Given the description of an element on the screen output the (x, y) to click on. 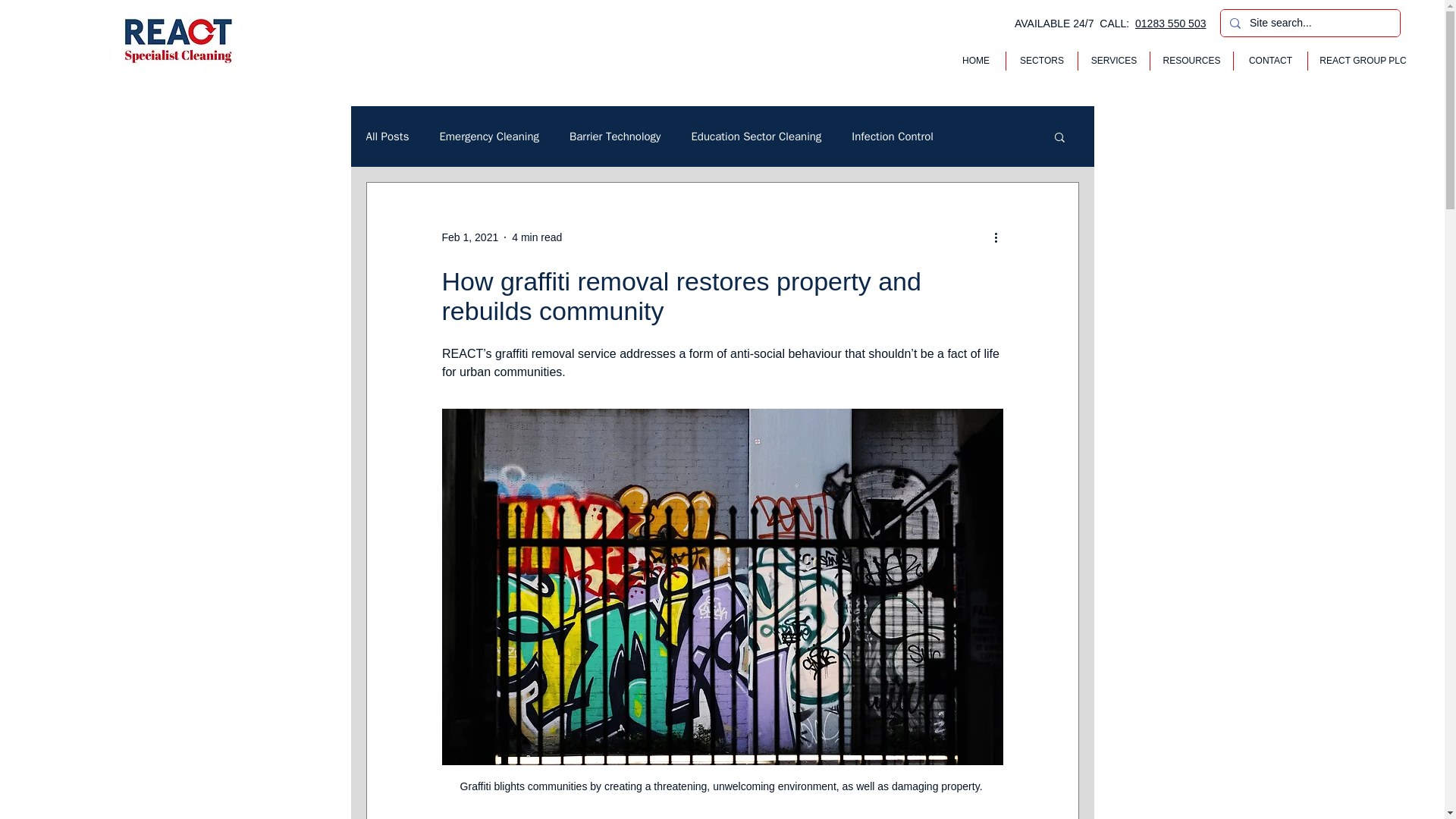
REACT GROUP PLC (1362, 60)
SERVICES (1114, 60)
RESOURCES (1191, 60)
4 min read (537, 236)
Education Sector Cleaning (755, 135)
CONTACT (1270, 60)
Infection Control (892, 135)
HOME (976, 60)
01283 550 503 (1170, 23)
Emergency Cleaning (488, 135)
Barrier Technology (615, 135)
Feb 1, 2021 (469, 236)
All Posts (387, 135)
